Given the description of an element on the screen output the (x, y) to click on. 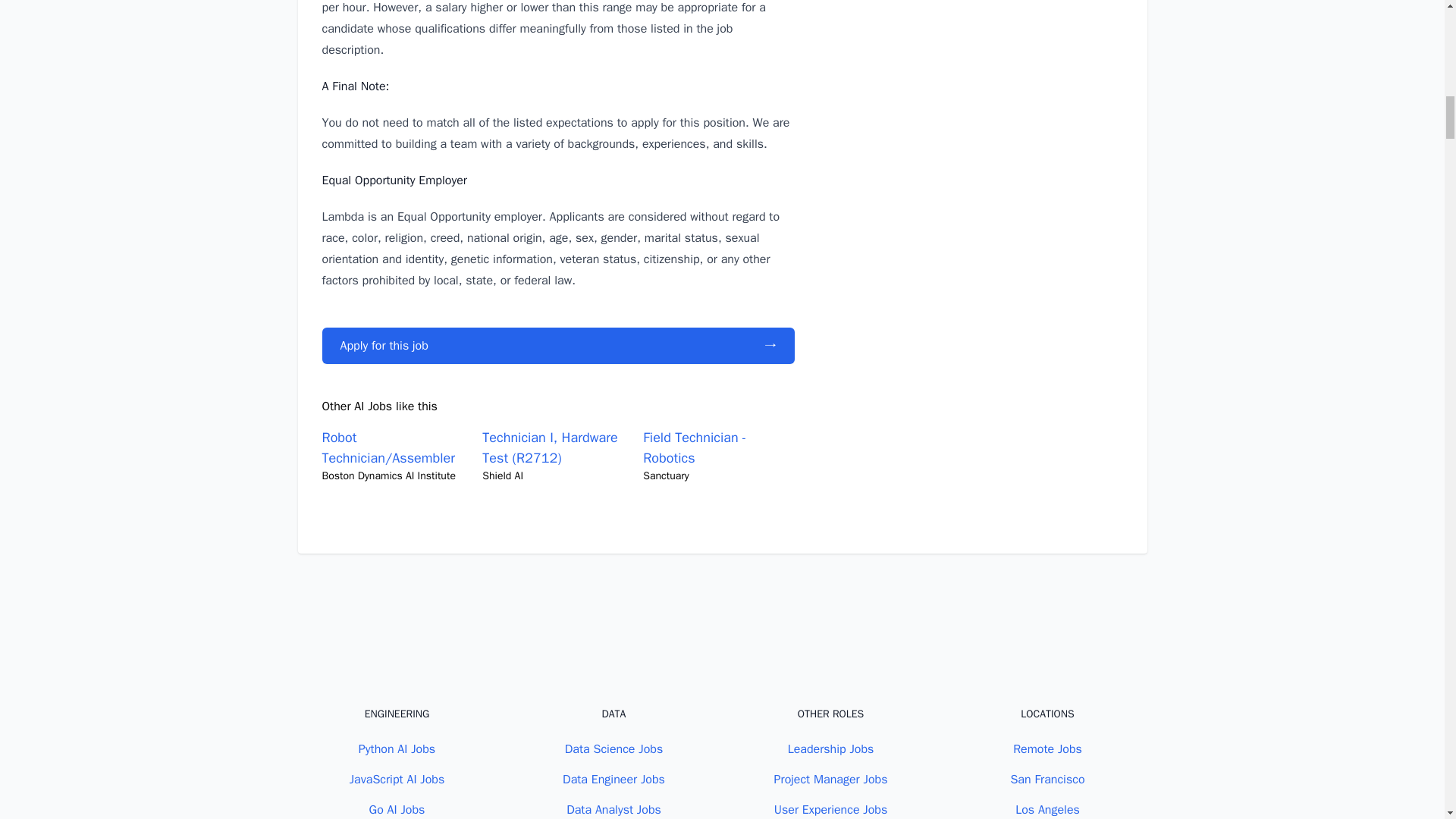
JavaScript AI Jobs (397, 779)
Python AI Jobs (396, 749)
San Francisco (1047, 779)
User Experience Jobs (831, 809)
Data Science Jobs (613, 749)
Leadership Jobs (831, 749)
Project Manager Jobs (831, 779)
Go AI Jobs (397, 809)
Los Angeles (1047, 809)
Data Engineer Jobs (613, 779)
Remote Jobs (1047, 749)
Data Analyst Jobs (613, 809)
Field Technician - Robotics (694, 447)
